Given the description of an element on the screen output the (x, y) to click on. 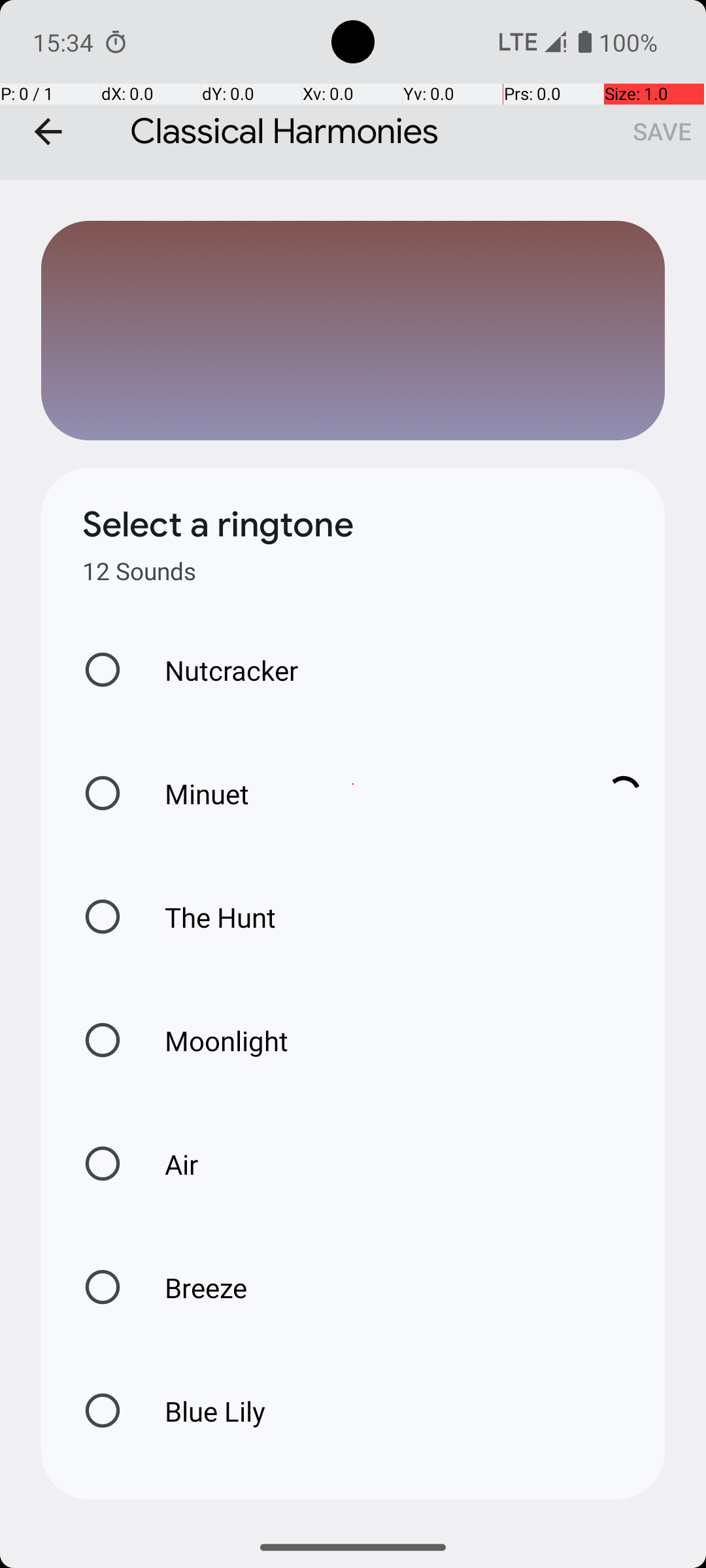
Classical Harmonies Element type: android.widget.FrameLayout (353, 89)
Select a ringtone Element type: android.widget.TextView (217, 524)
12 Sounds Element type: android.widget.TextView (139, 570)
Nutcracker Element type: android.widget.TextView (217, 669)
Minuet Element type: android.widget.TextView (359, 793)
Download in progress Element type: android.widget.ImageView (623, 792)
The Hunt Element type: android.widget.TextView (206, 916)
Moonlight Element type: android.widget.TextView (212, 1040)
Air Element type: android.widget.TextView (167, 1163)
Breeze Element type: android.widget.TextView (192, 1287)
Blue Lily Element type: android.widget.TextView (201, 1410)
